Given the description of an element on the screen output the (x, y) to click on. 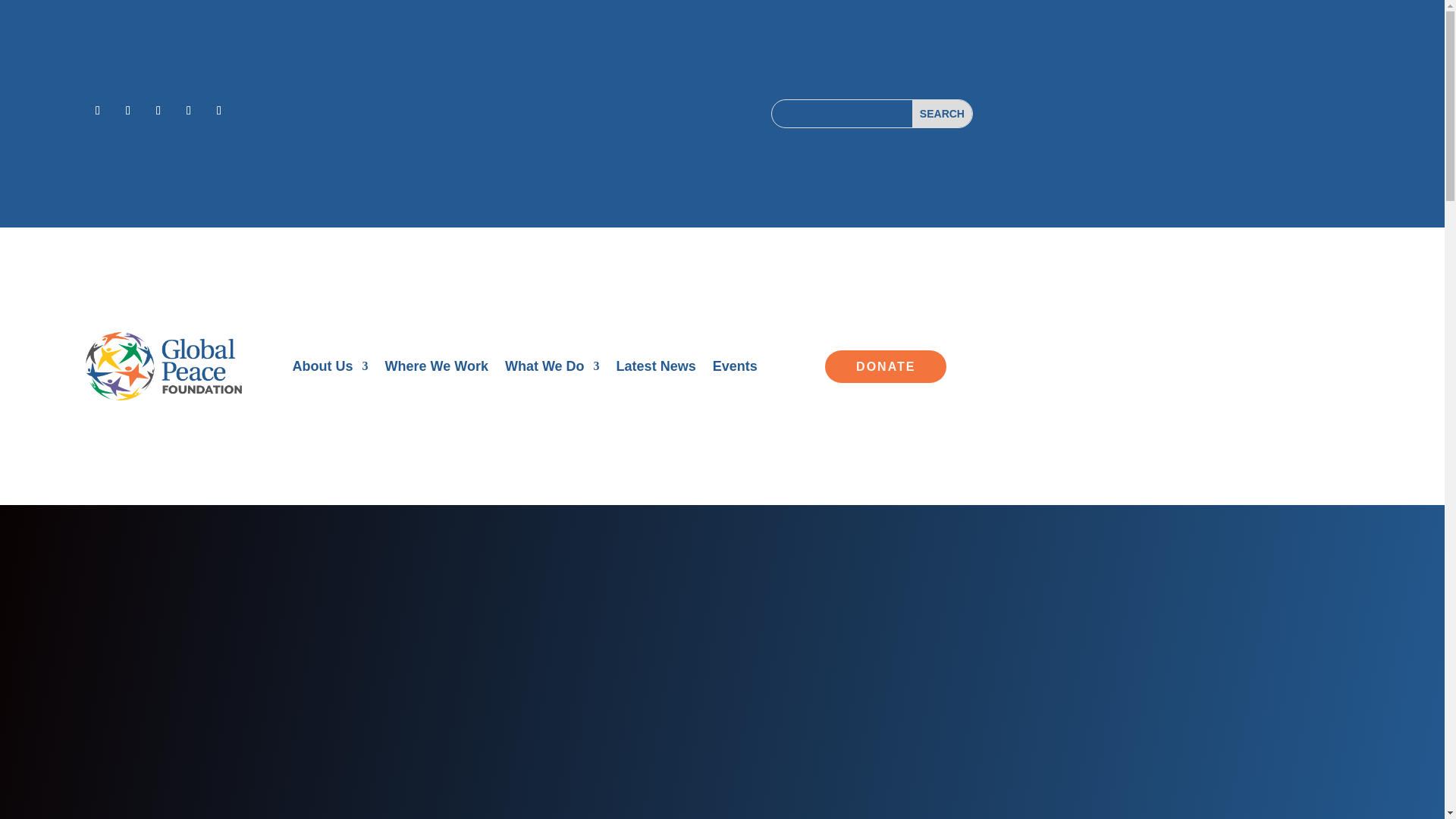
Global Peace Foundation Logo (163, 366)
What We Do (552, 369)
Follow on LinkedIn (188, 110)
About Us (330, 369)
Follow on Facebook (97, 110)
Latest News (655, 369)
Events (735, 369)
Where We Work (436, 369)
Follow on Instagram (158, 110)
Follow on Youtube (218, 110)
